Given the description of an element on the screen output the (x, y) to click on. 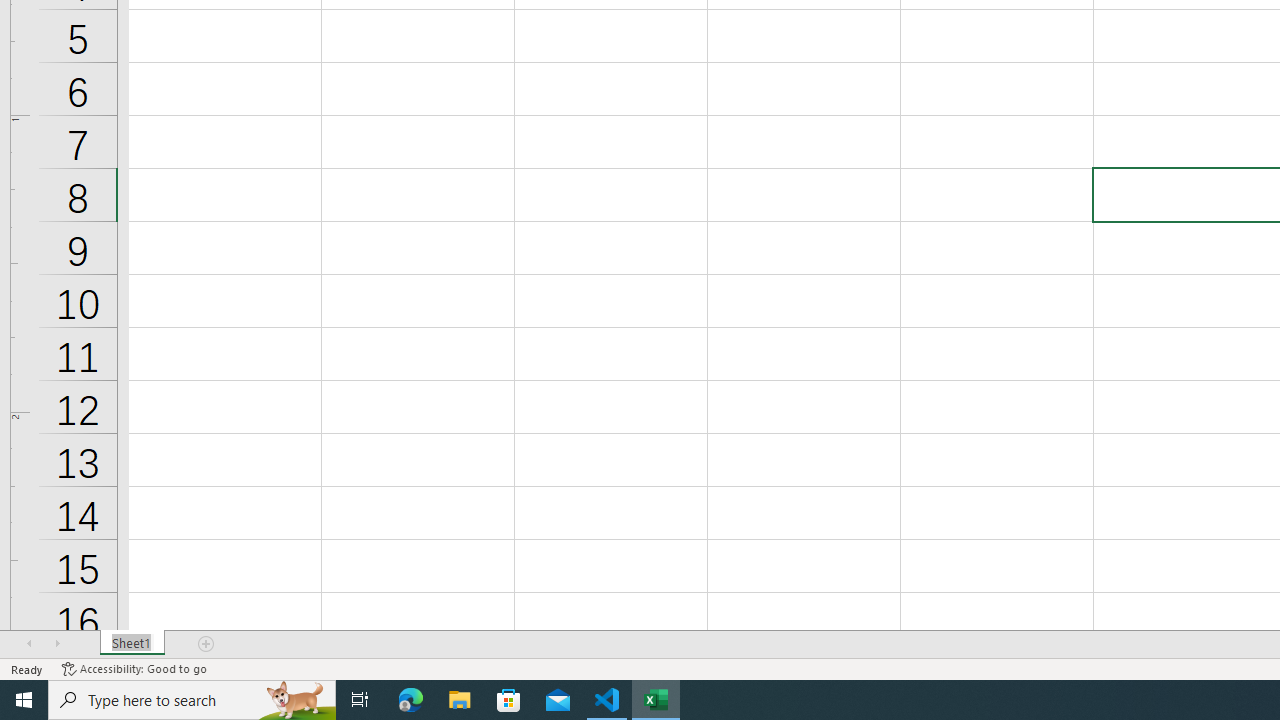
Scroll Right (57, 644)
Sheet Tab (132, 644)
Sheet1 (132, 644)
Accessibility Checker Accessibility: Good to go (134, 668)
Scroll Left (29, 644)
Add Sheet (207, 644)
